Given the description of an element on the screen output the (x, y) to click on. 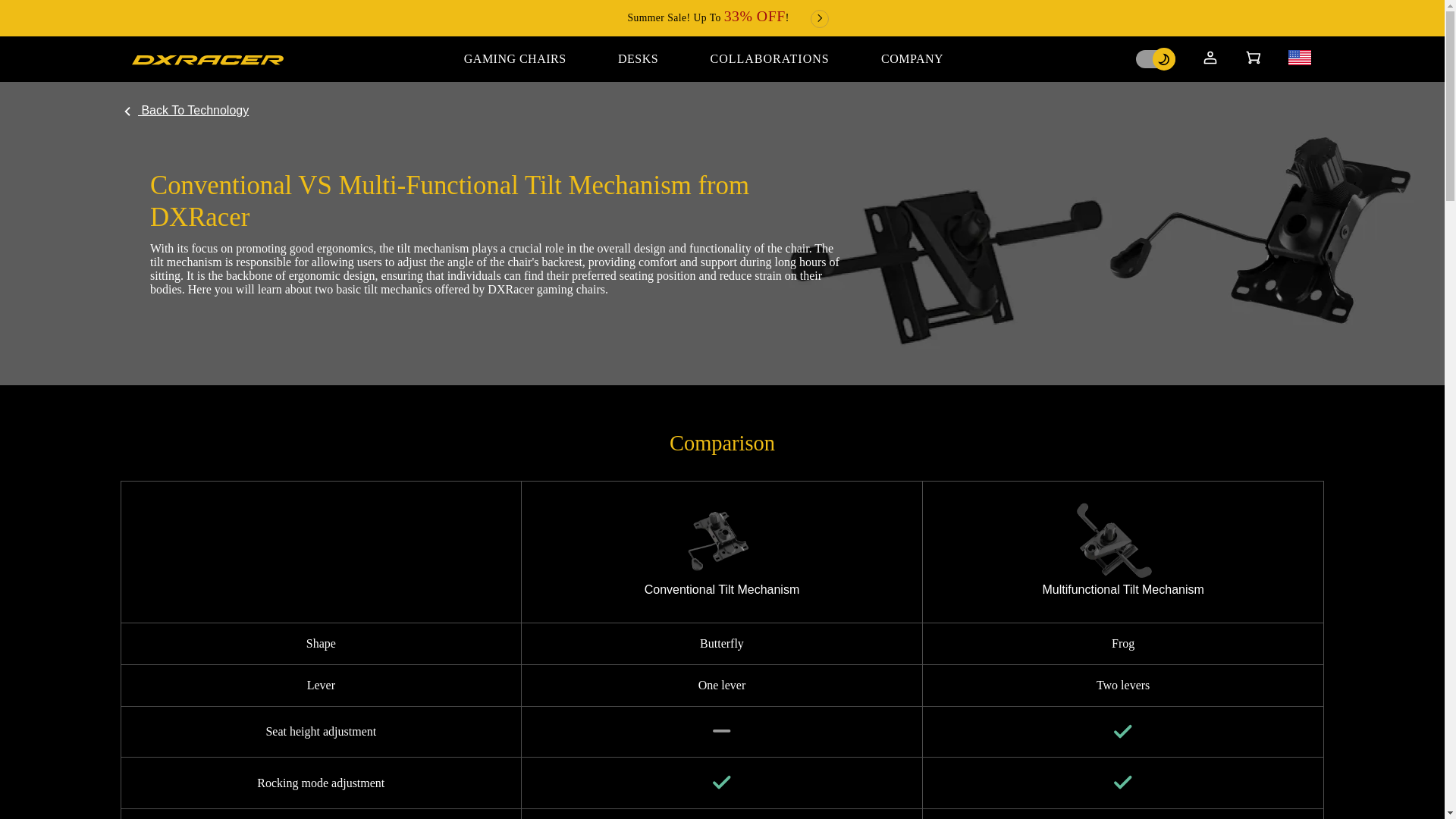
GAMING CHAIRS (515, 58)
Search (406, 5)
COMPANY (912, 58)
DESKS (638, 58)
Summer Sale (727, 17)
COLLABORATIONS (769, 58)
COMPANY (912, 58)
GAMING CHAIRS (515, 58)
DESKS (638, 58)
COLLABORATIONS (769, 58)
